Given the description of an element on the screen output the (x, y) to click on. 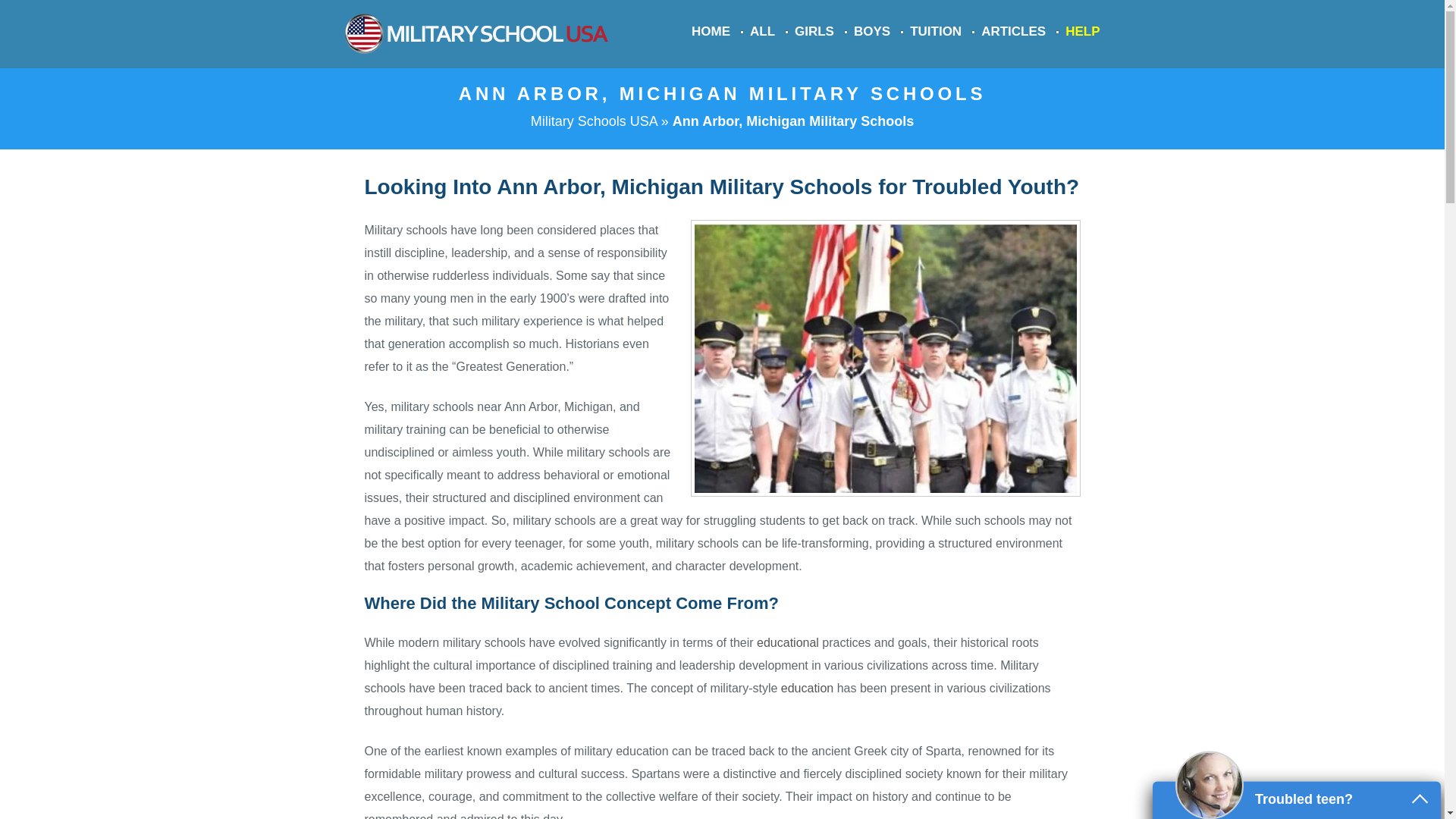
TUITION (935, 31)
HOME (710, 31)
HELP (1082, 31)
ALL (761, 31)
GIRLS (814, 31)
ARTICLES (1013, 31)
Military Schools USA (594, 120)
educational (787, 642)
BOYS (871, 31)
education (806, 687)
